Given the description of an element on the screen output the (x, y) to click on. 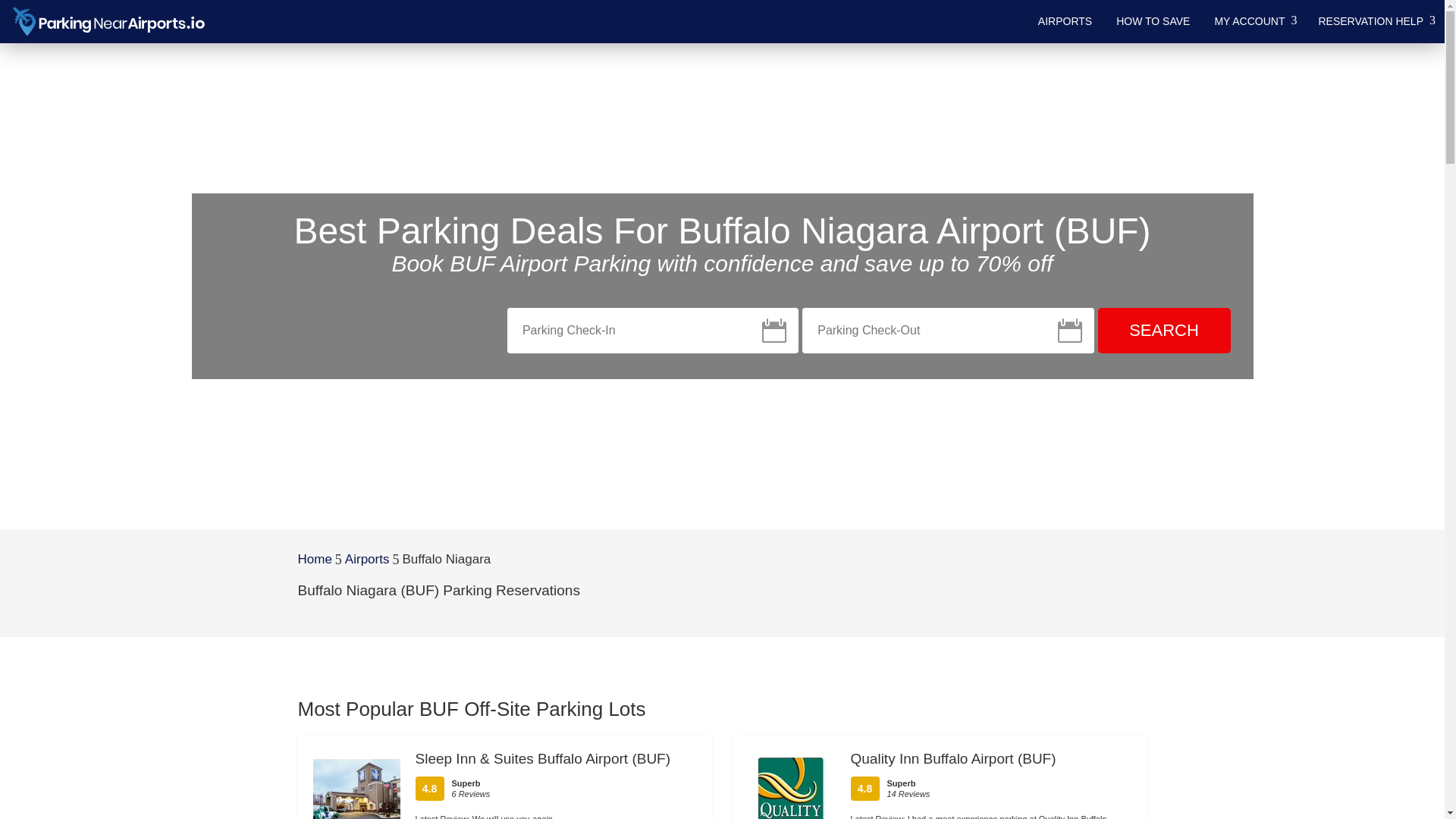
Search (1163, 329)
AIRPORTS (1064, 21)
Search (1163, 329)
MY ACCOUNT (1254, 21)
Home (314, 559)
Search (1163, 329)
RESERVATION HELP (1375, 21)
HOW TO SAVE (1152, 21)
Airports (367, 559)
